Given the description of an element on the screen output the (x, y) to click on. 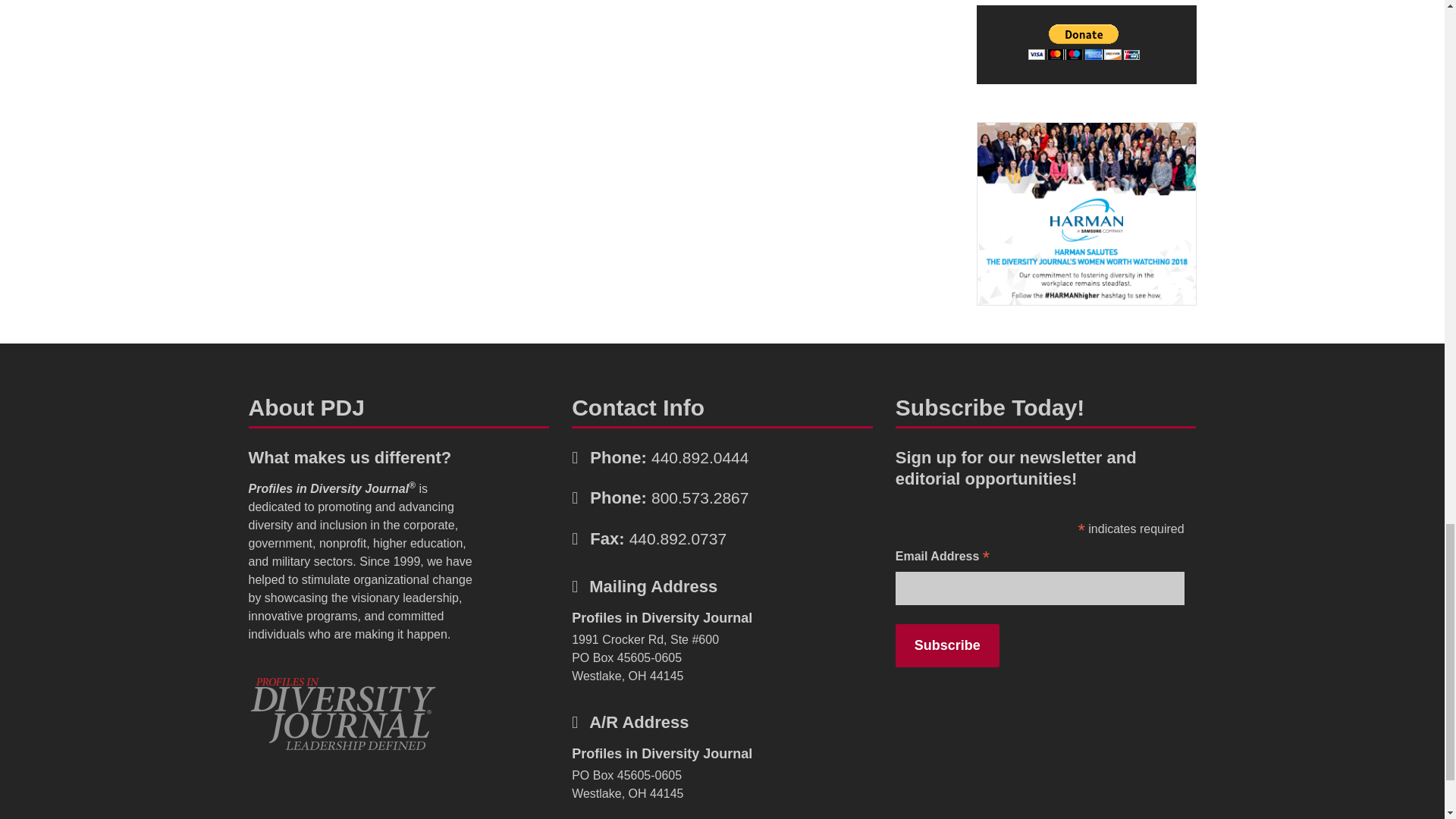
Subscribe (946, 645)
